Given the description of an element on the screen output the (x, y) to click on. 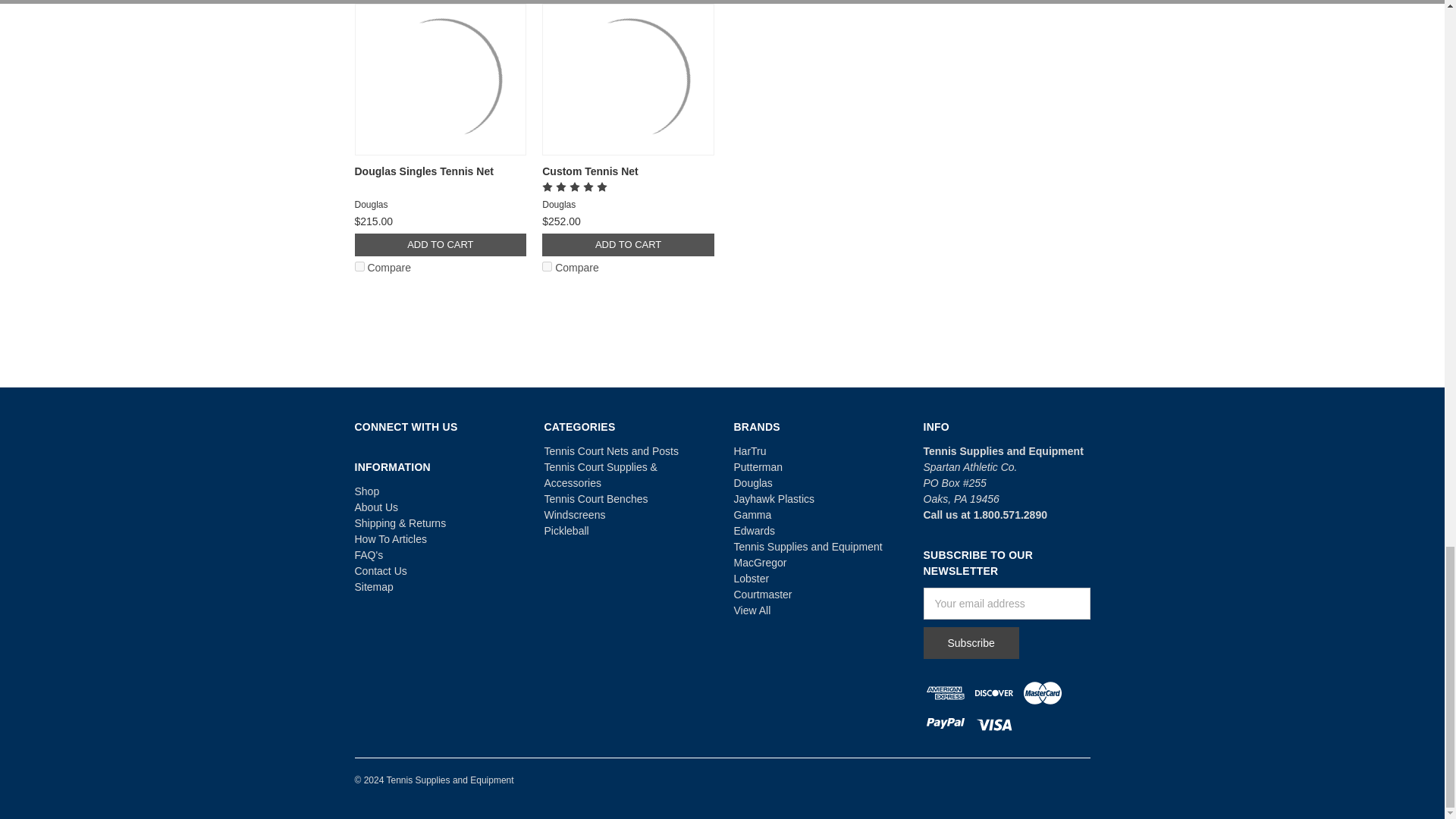
Singles tennis net (440, 79)
390 (546, 266)
Douglas TN-30 tennis net (628, 79)
512 (360, 266)
Subscribe (971, 643)
